Given the description of an element on the screen output the (x, y) to click on. 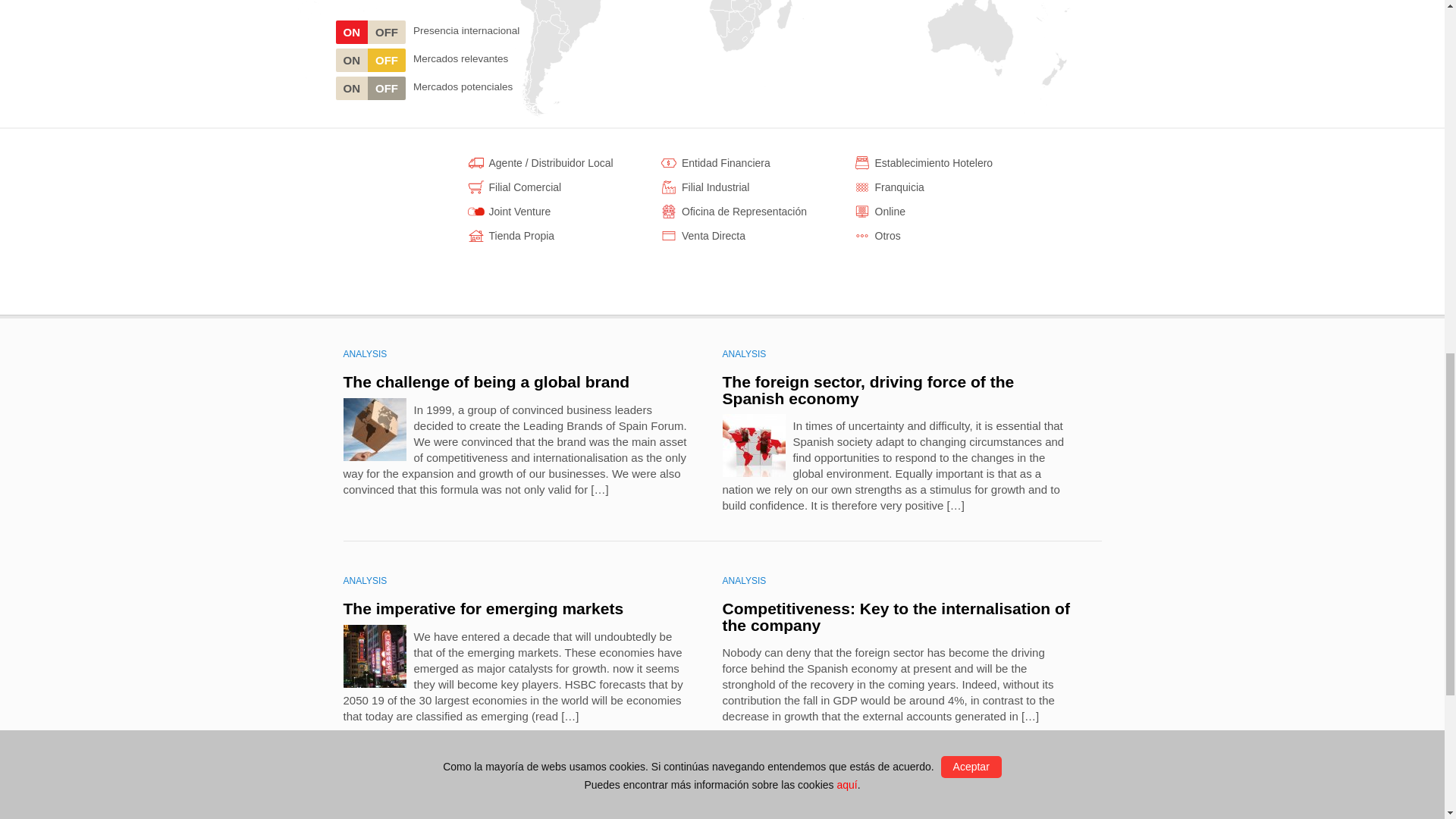
Competitiveness: Key to the internalisation of the company (895, 616)
The imperative for emerging markets (482, 608)
ANALYSIS (743, 353)
The challenge of being a global brand (485, 381)
ANALYSIS (364, 580)
The challenge of being a global brand (485, 381)
The foreign sector, driving force of the Spanish economy (867, 390)
ANALYSIS (364, 353)
The foreign sector, driving force of the Spanish economy (867, 390)
The imperative for emerging markets (482, 608)
